Given the description of an element on the screen output the (x, y) to click on. 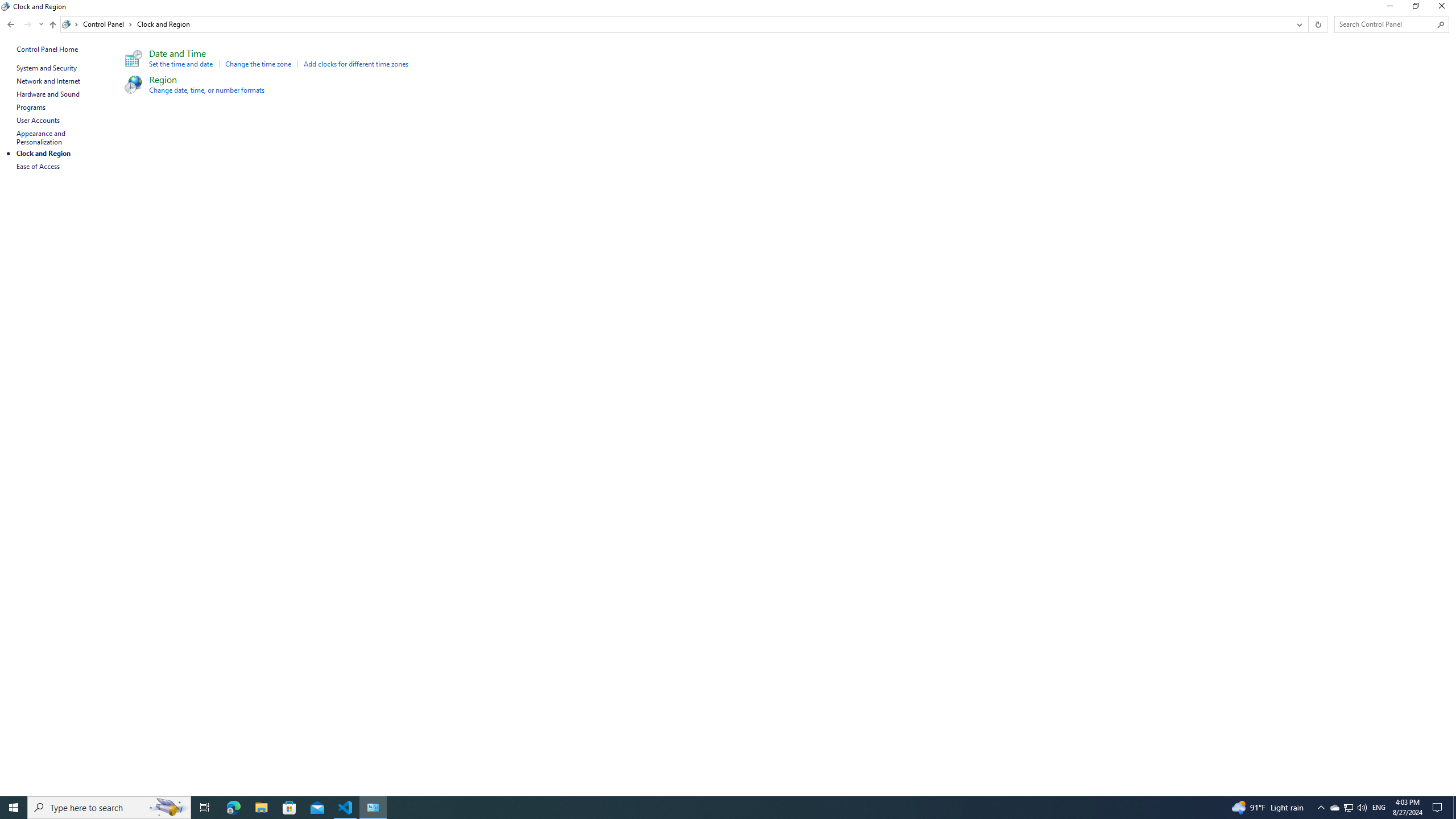
Up band toolbar (52, 26)
Address: Control Panel\Clock and Region (675, 23)
Change the time zone (258, 63)
Forward (Alt + Right Arrow) (27, 23)
Recent locations (40, 23)
Appearance and Personalization (42, 137)
Minimize (1388, 8)
Address band toolbar (1308, 23)
Previous Locations (1298, 23)
Search (1441, 24)
Region (162, 79)
